Given the description of an element on the screen output the (x, y) to click on. 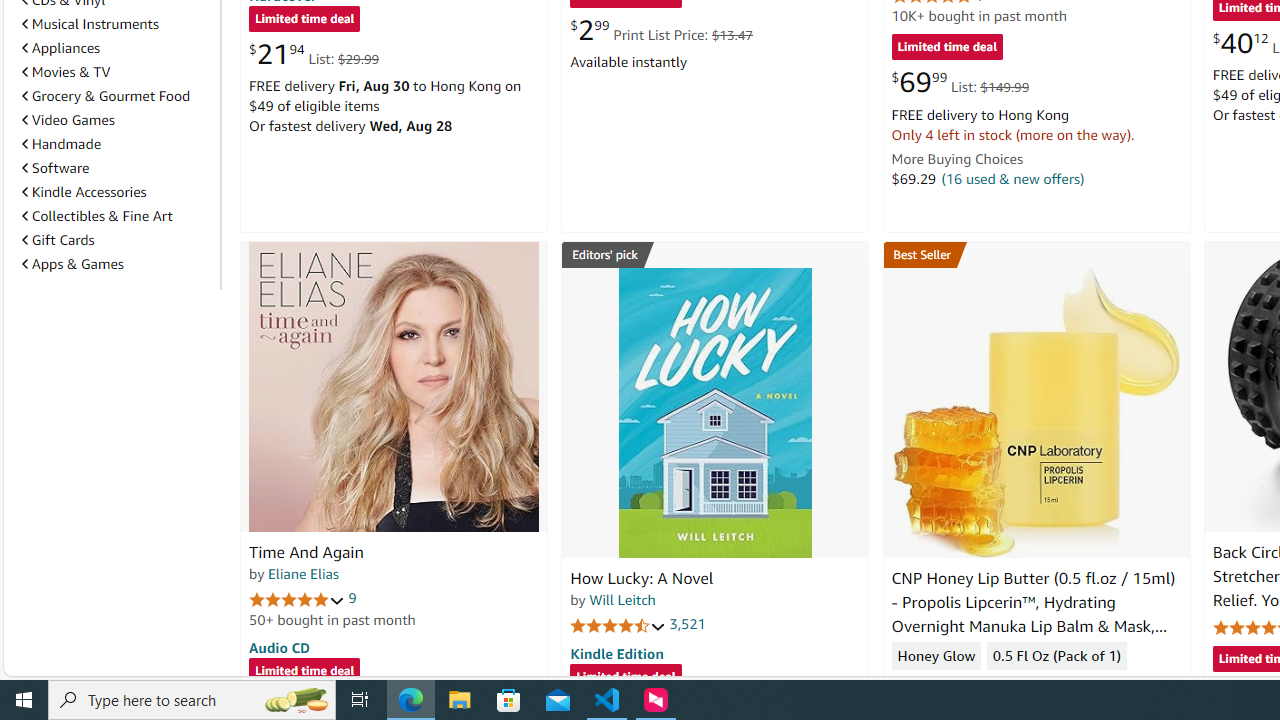
Grocery & Gourmet Food (117, 95)
Musical Instruments (117, 23)
5.0 out of 5 stars (297, 598)
$69.99 List: $149.99 (960, 82)
Software (117, 167)
Best Seller in Lip Butters (1036, 254)
Collectibles & Fine Art (117, 215)
How Lucky: A Novel (641, 578)
Gift Cards (117, 239)
Grocery & Gourmet Food (105, 96)
Apps & Games (117, 264)
$2.99 Print List Price: $13.47 (660, 30)
Software (55, 168)
